Given the description of an element on the screen output the (x, y) to click on. 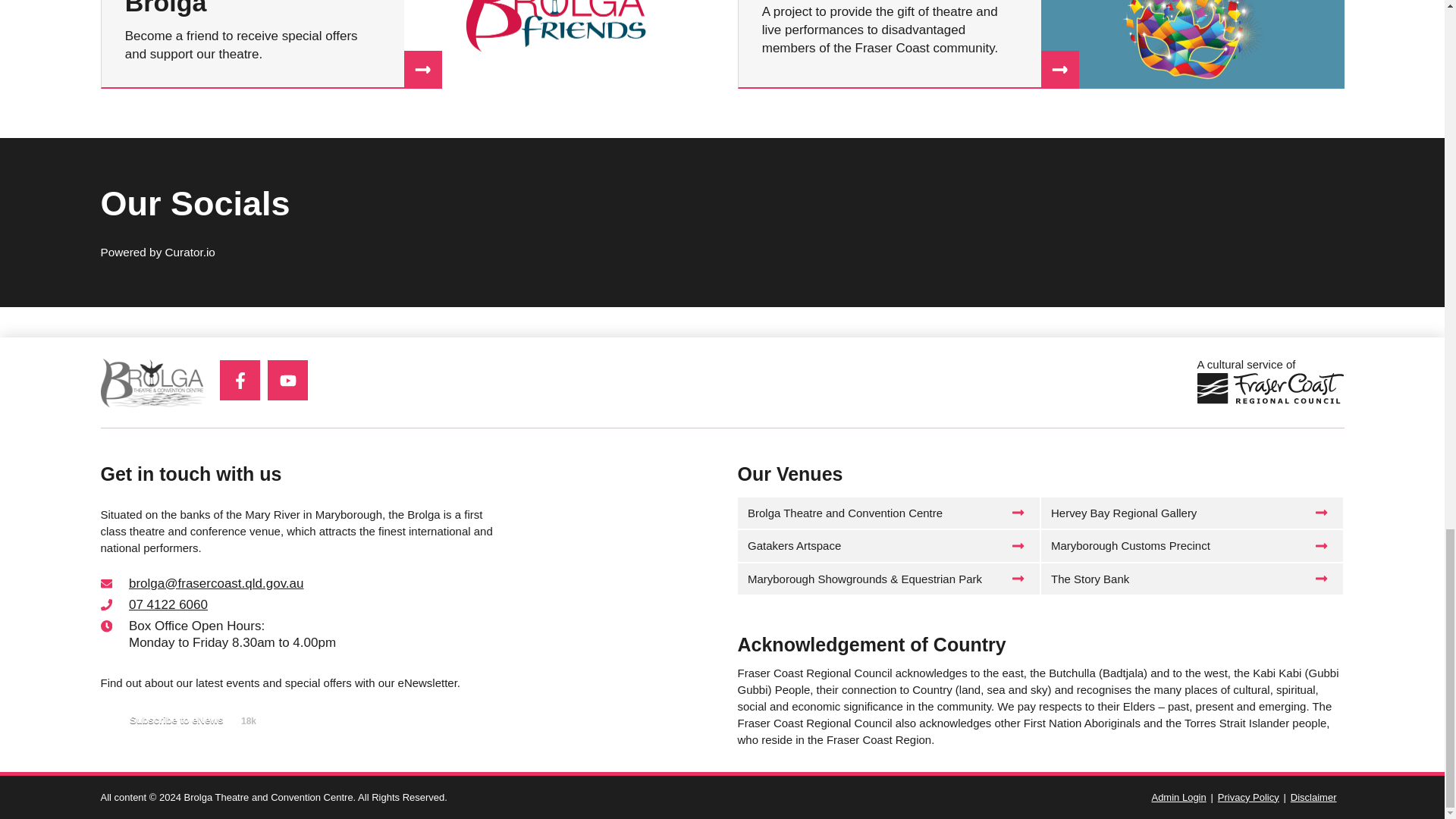
Facebook (239, 380)
Youtube (287, 380)
Preview (180, 720)
Brolga Friends (554, 44)
inspired mask (1192, 44)
